Given the description of an element on the screen output the (x, y) to click on. 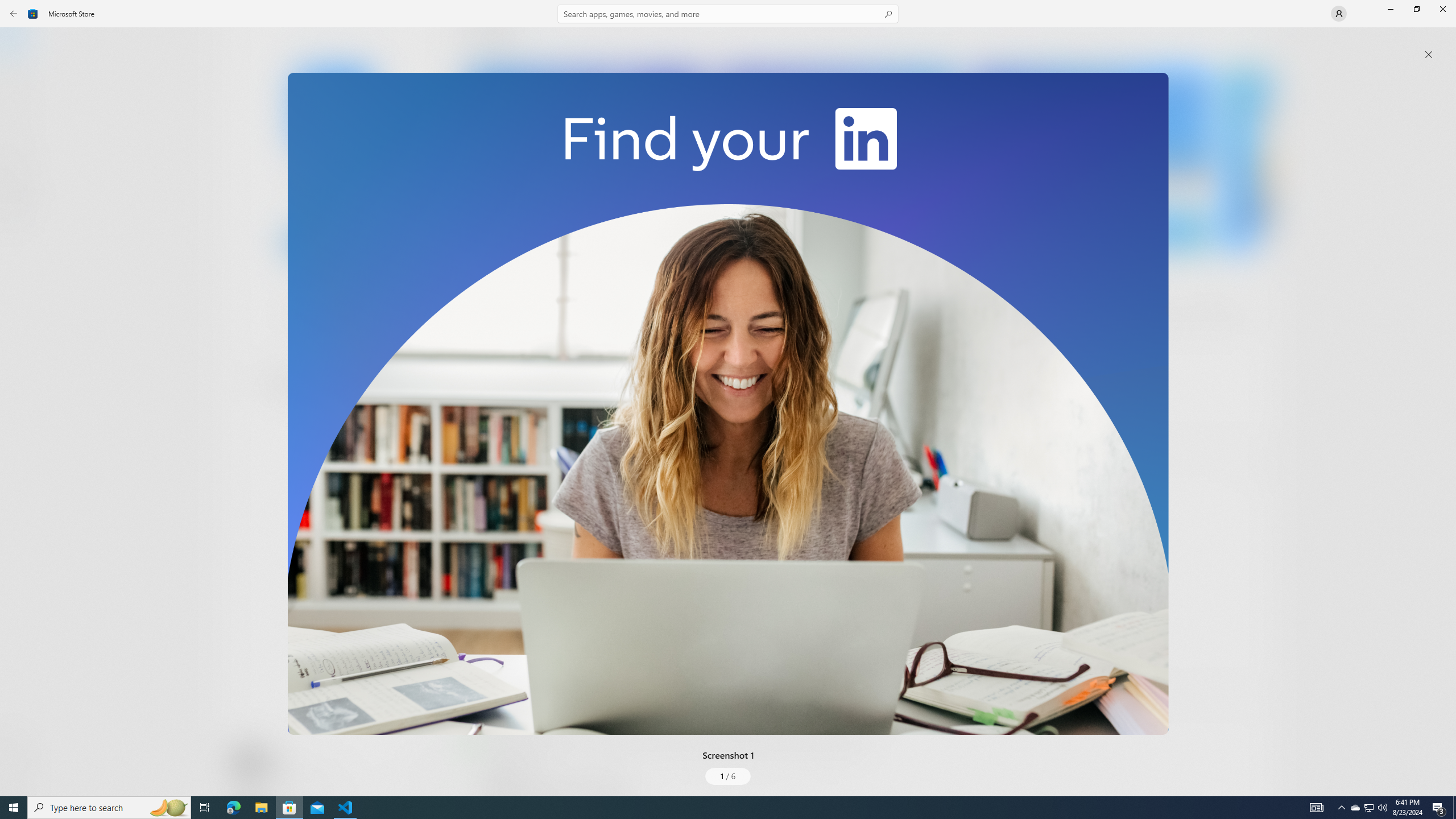
Entertainment (20, 185)
Search (727, 13)
Screenshot 4 (1247, 158)
close popup window (1428, 54)
Show all ratings and reviews (477, 667)
3.9 stars. Click to skip to ratings and reviews (307, 315)
Back (13, 13)
Gaming (20, 115)
Close Microsoft Store (1442, 9)
What's New (20, 738)
Screenshot 3 (1089, 158)
LinkedIn (332, 189)
Home (20, 45)
AI Hub (20, 221)
